Given the description of an element on the screen output the (x, y) to click on. 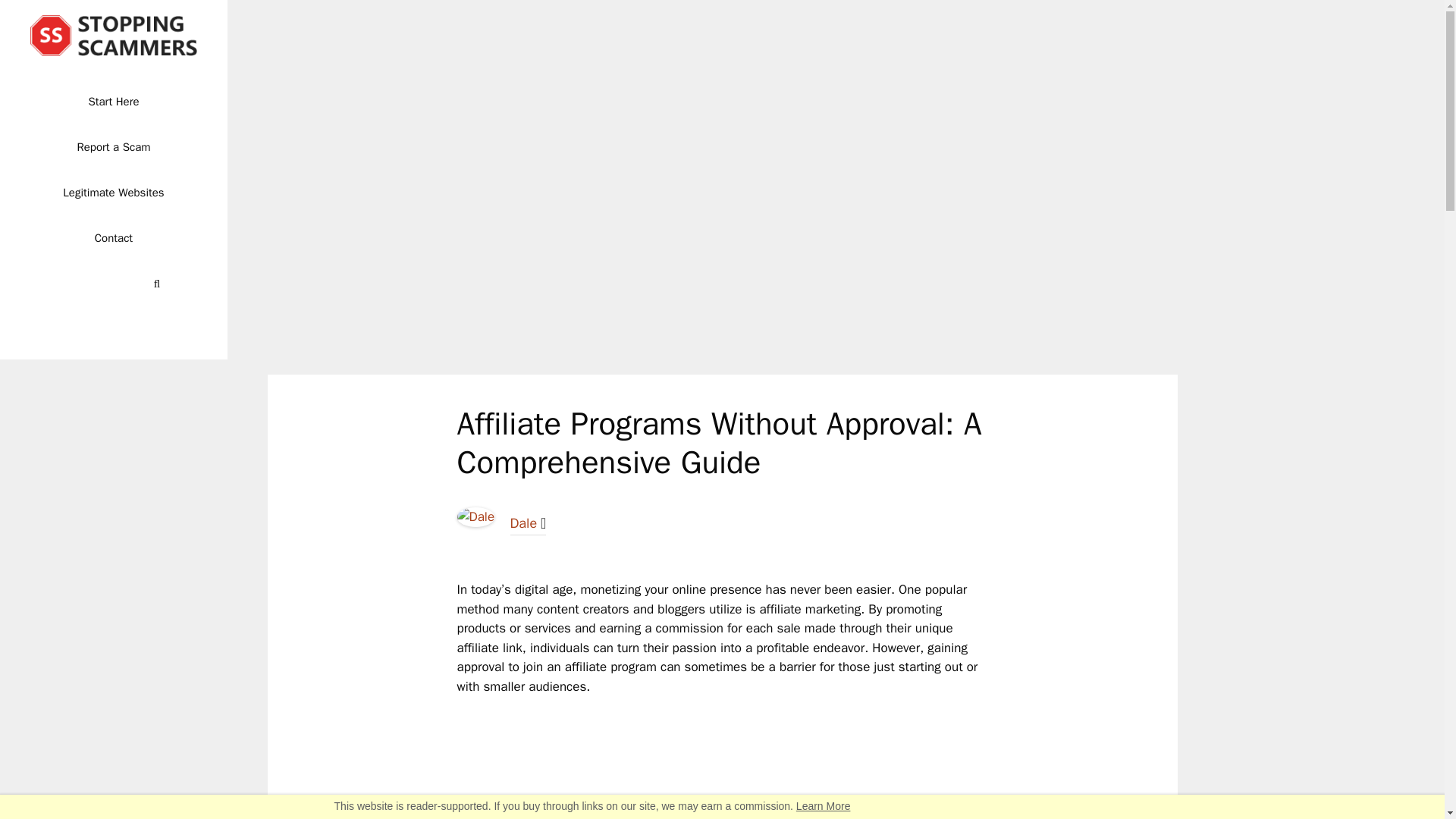
Dale (476, 522)
Dale (523, 523)
Start Here (113, 101)
Legitimate Websites (113, 192)
Contact (113, 238)
Report a Scam (113, 146)
